Given the description of an element on the screen output the (x, y) to click on. 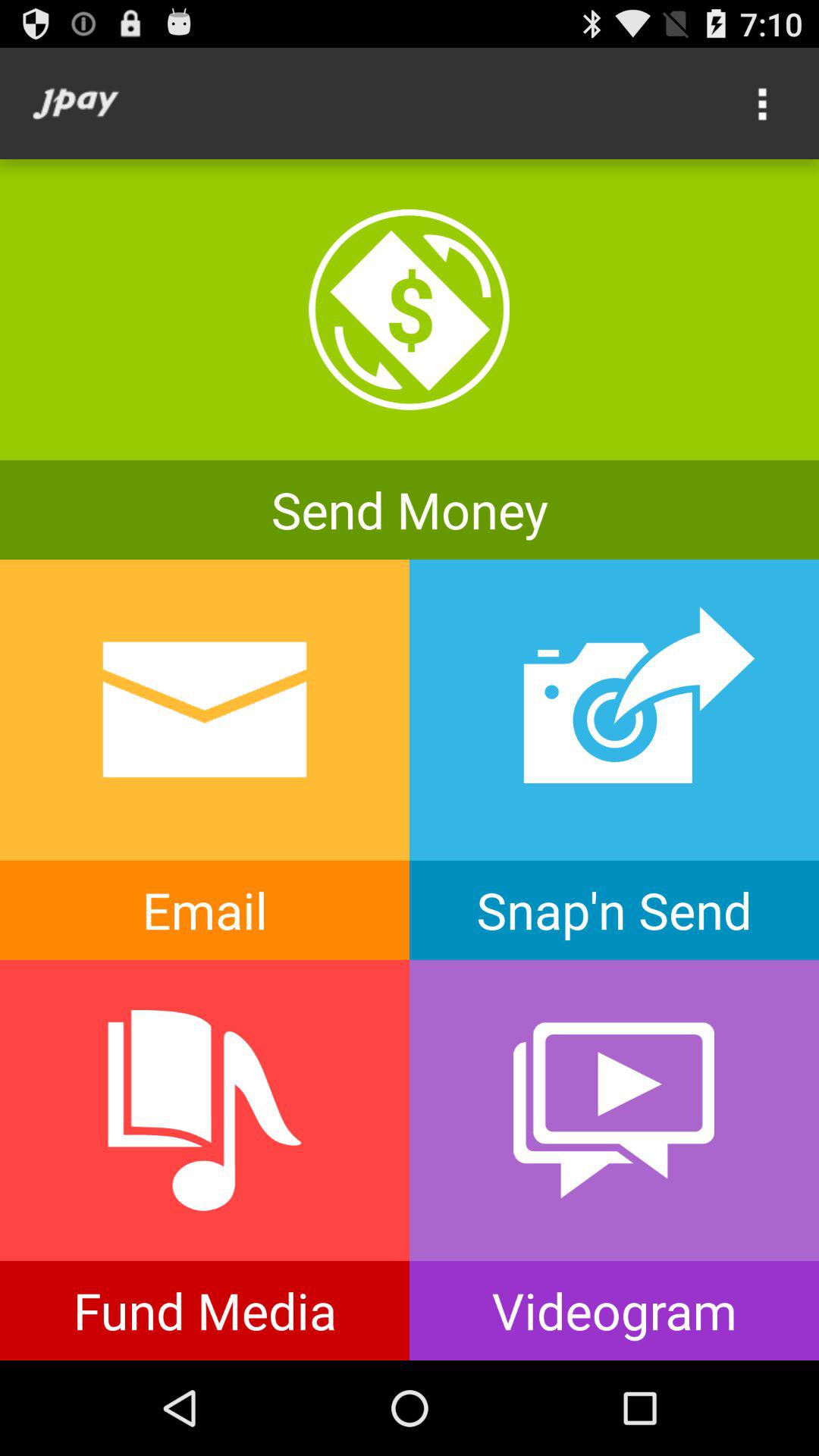
select email (204, 759)
